Given the description of an element on the screen output the (x, y) to click on. 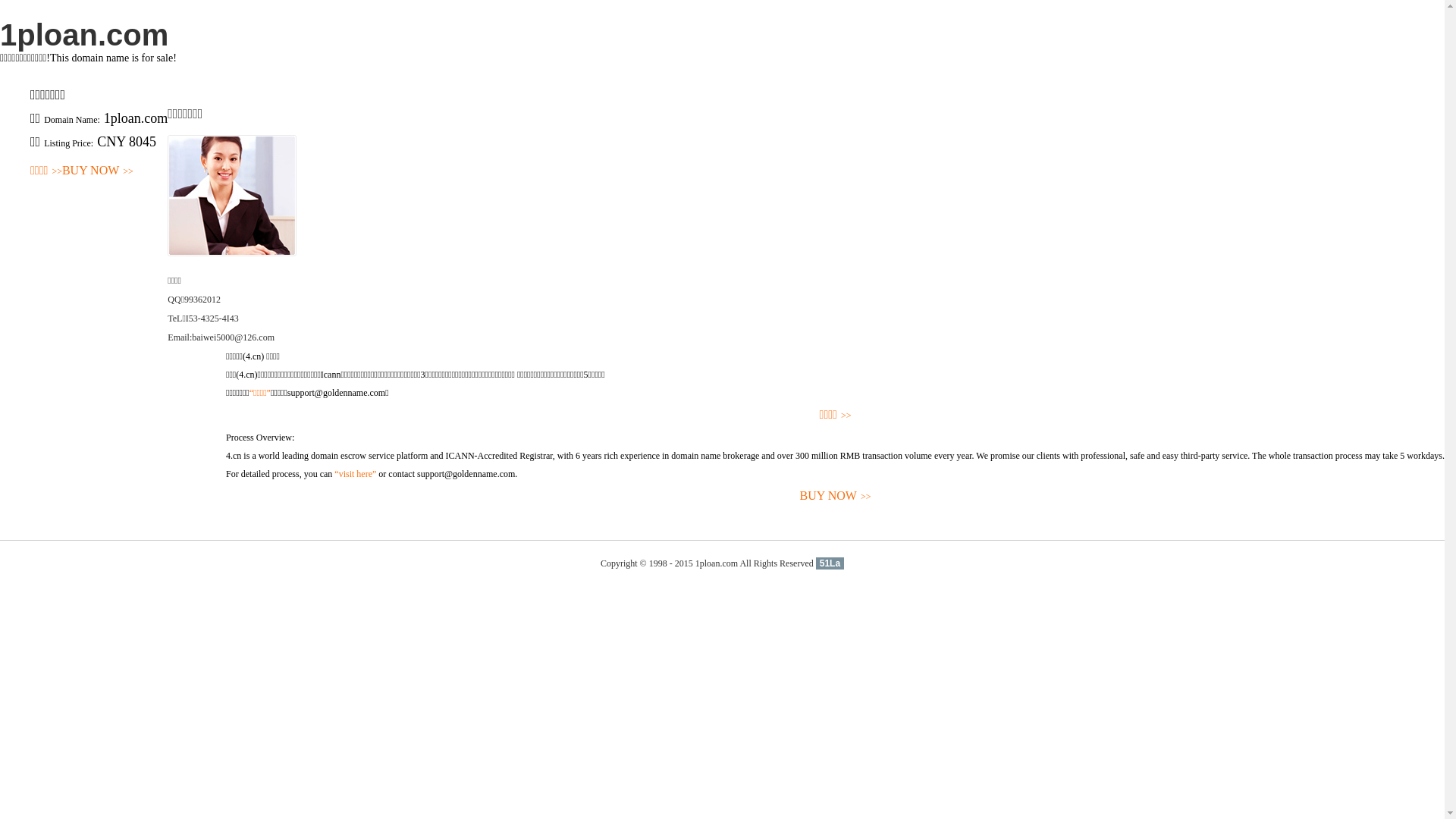
51La Element type: text (829, 563)
BUY NOW>> Element type: text (97, 170)
BUY NOW>> Element type: text (834, 496)
